Given the description of an element on the screen output the (x, y) to click on. 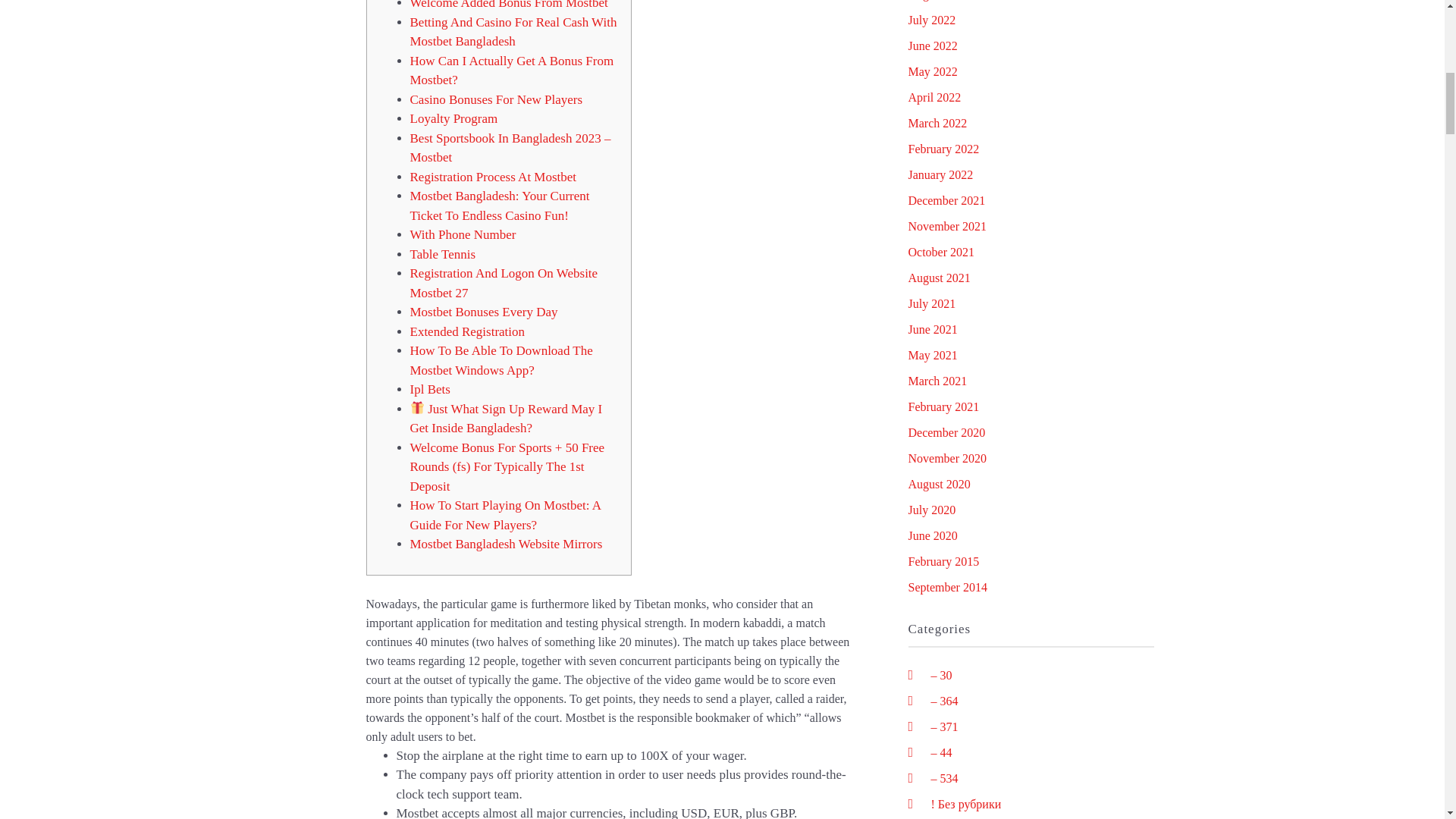
Registration Process At Mostbet (492, 176)
Loyalty Program (453, 118)
Casino Bonuses For New Players (495, 99)
Registration And Logon On Website Mostbet 27 (502, 283)
How Can I Actually Get A Bonus From Mostbet? (510, 69)
With Phone Number (462, 234)
Welcome Added Bonus From Mostbet (508, 4)
Betting And Casino For Real Cash With Mostbet Bangladesh (512, 32)
Table Tennis (442, 254)
